Given the description of an element on the screen output the (x, y) to click on. 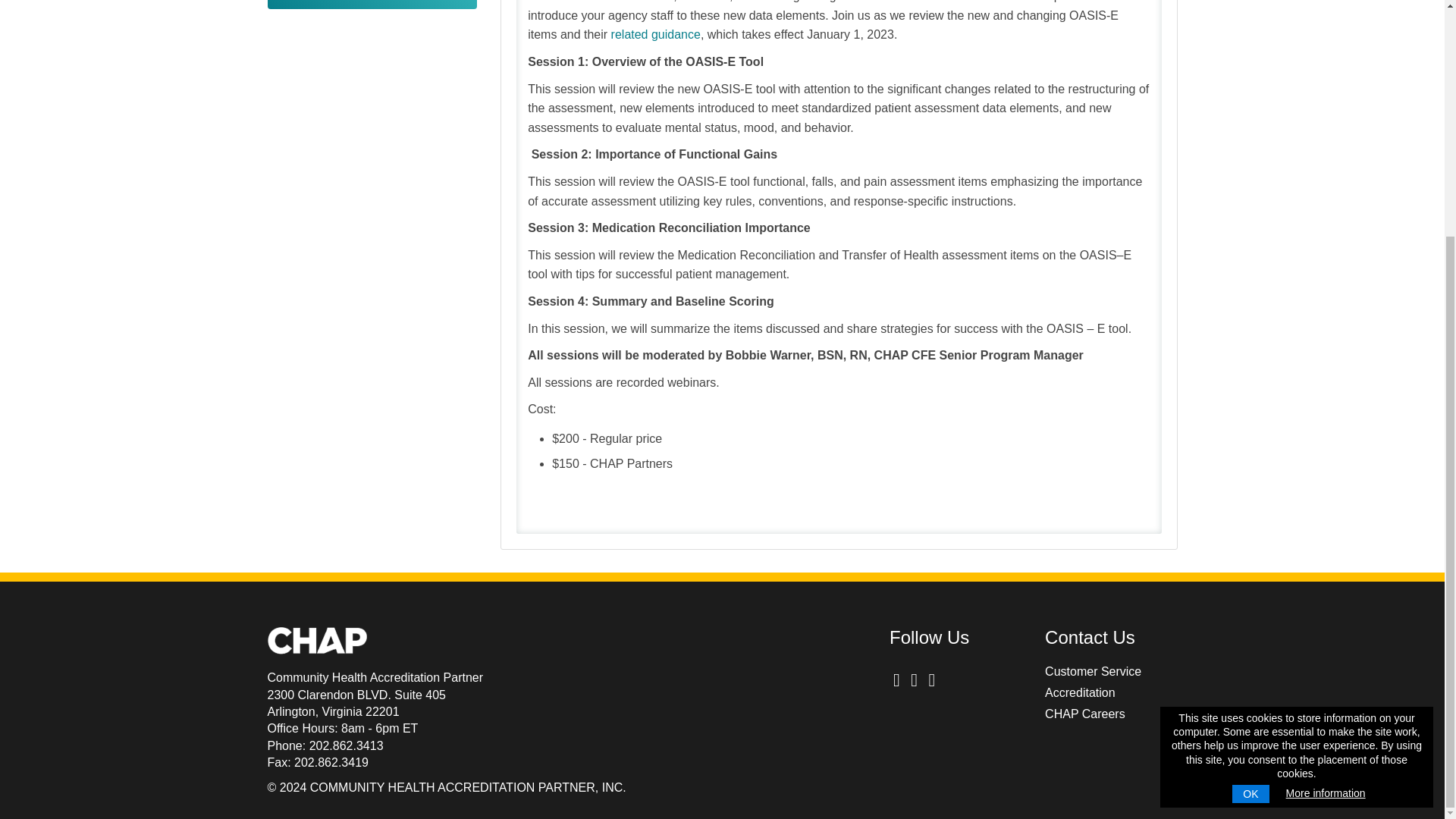
Customer Service (1093, 671)
CHAP Careers (1085, 713)
More information (1325, 470)
OK (1249, 471)
Accreditation (1080, 692)
related guidance (655, 33)
